Given the description of an element on the screen output the (x, y) to click on. 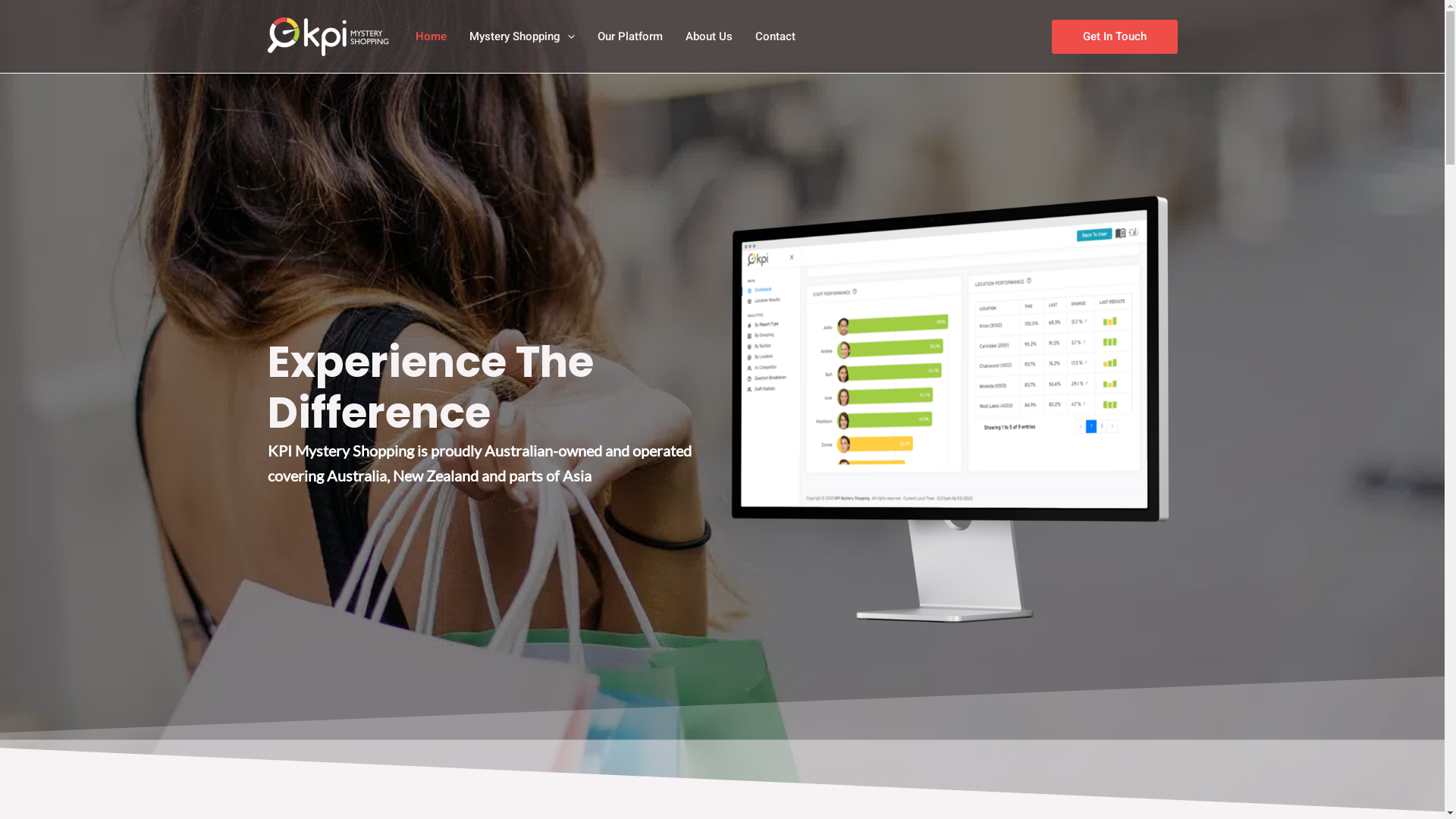
Our Platform Element type: text (629, 36)
Get In Touch Element type: text (1113, 36)
Contact Element type: text (774, 36)
Home Element type: text (430, 36)
About Us Element type: text (708, 36)
Mystery Shopping Element type: text (522, 36)
